Given the description of an element on the screen output the (x, y) to click on. 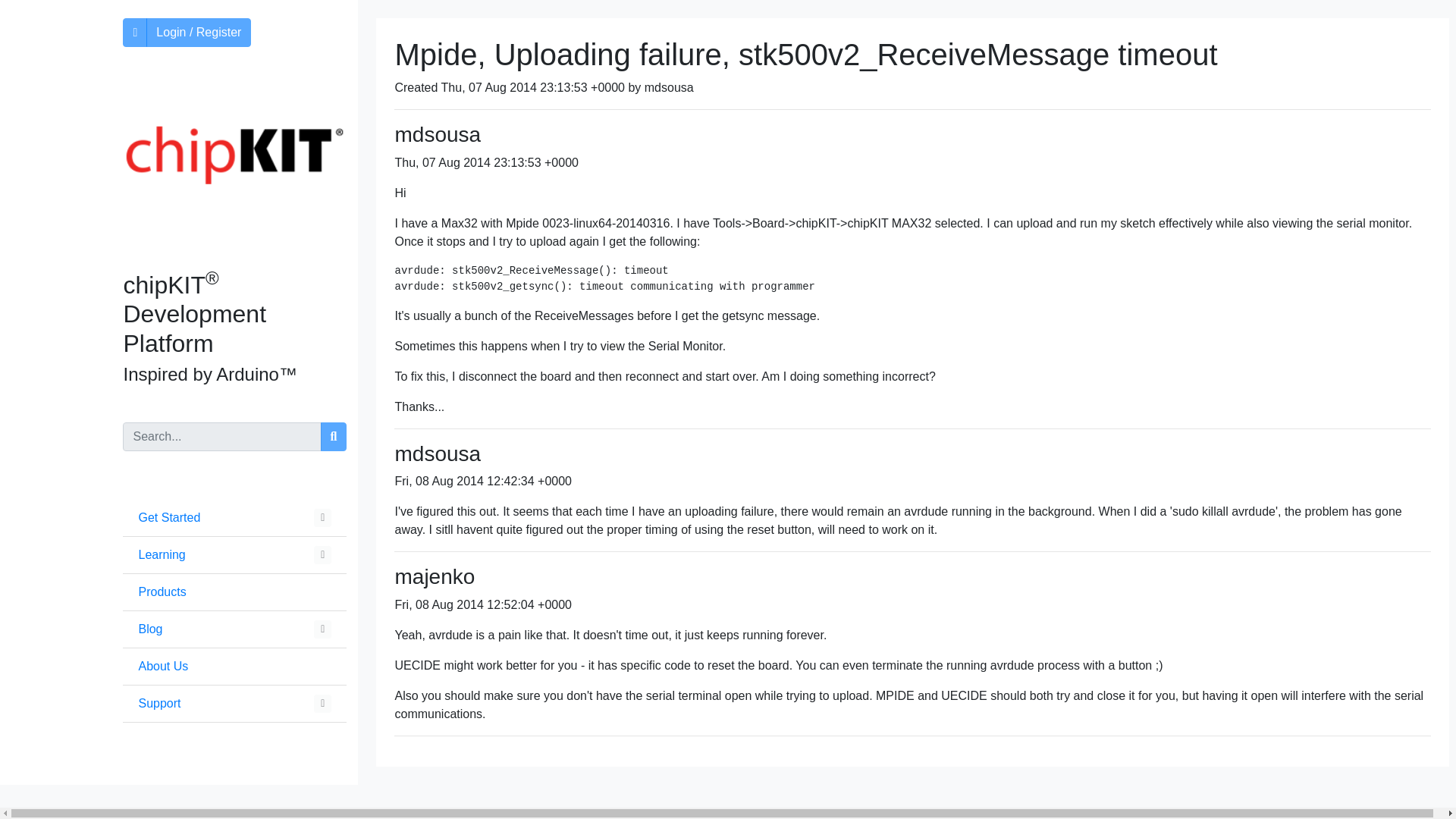
Get Started (169, 517)
